Given the description of an element on the screen output the (x, y) to click on. 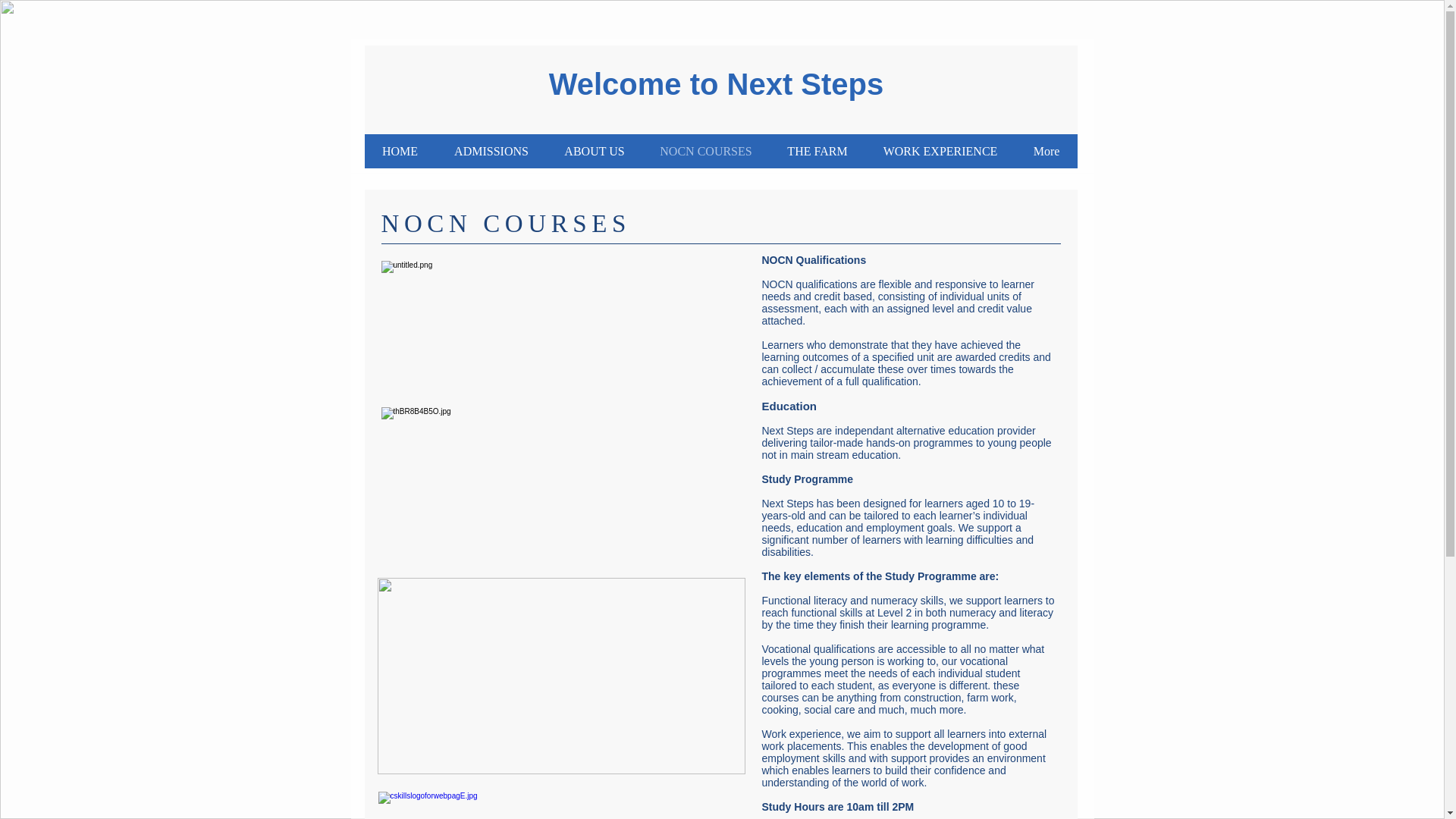
HOME (399, 151)
WORK EXPERIENCE (939, 151)
THE FARM (816, 151)
NOCN.jpg (561, 675)
ABOUT US (594, 151)
ADMISSIONS (490, 151)
NOCN COURSES (705, 151)
